Given the description of an element on the screen output the (x, y) to click on. 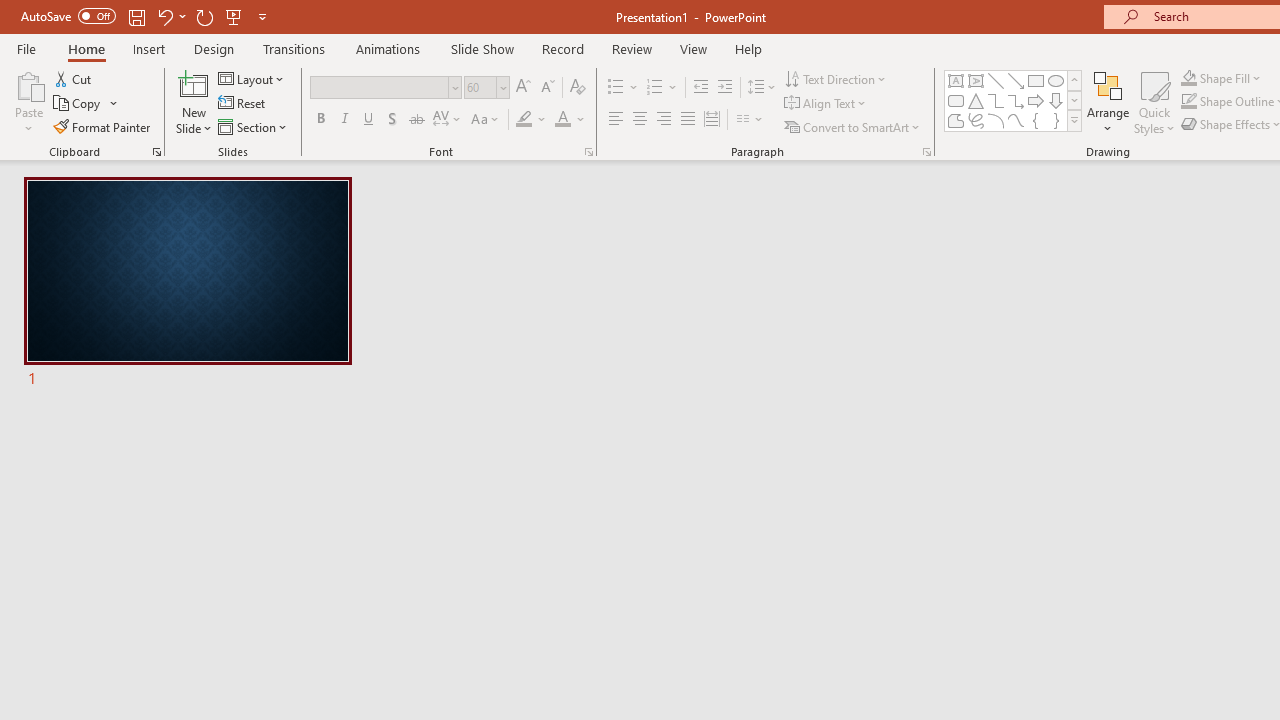
Shape Outline Blue, Accent 1 (1188, 101)
